Given the description of an element on the screen output the (x, y) to click on. 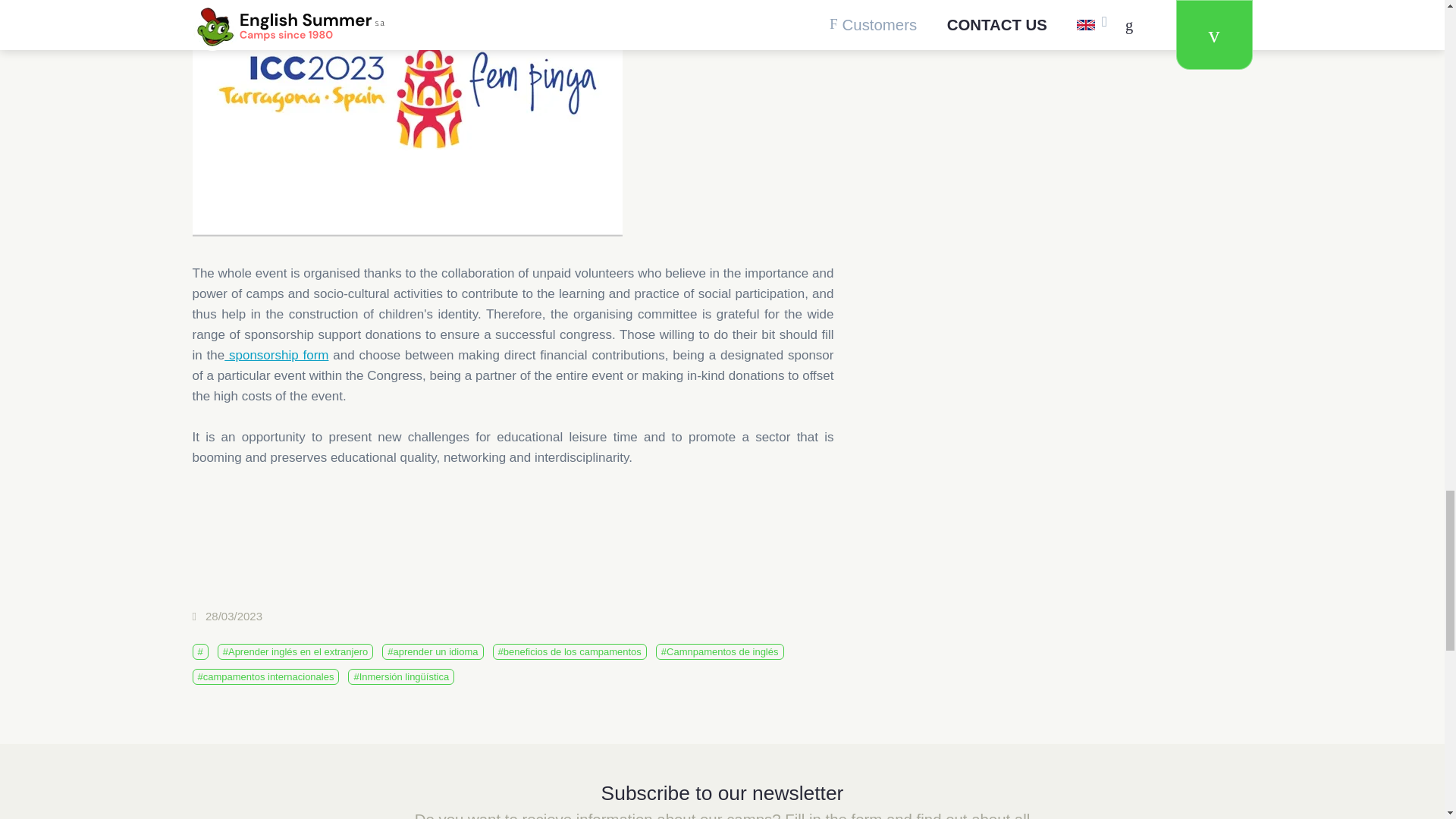
 sponsorship form (276, 355)
